Given the description of an element on the screen output the (x, y) to click on. 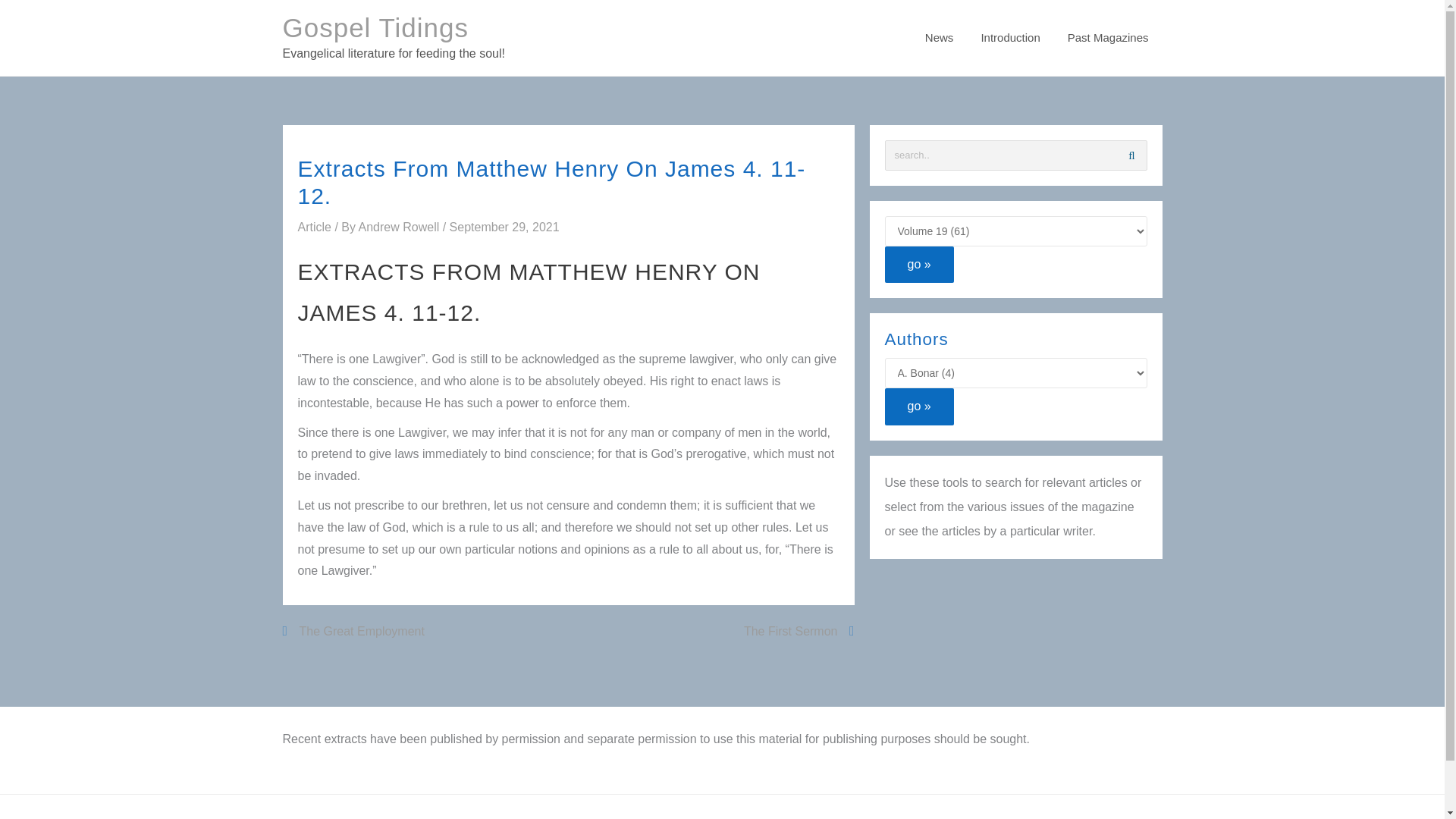
Gospel Tidings (375, 27)
Search (1131, 155)
Search (1131, 155)
View all posts by Andrew Rowell (400, 226)
The Great Employment (353, 631)
Article (313, 226)
Andrew Rowell (400, 226)
The First Sermon (798, 631)
Past Magazines (1107, 37)
Introduction (1009, 37)
News (939, 37)
